Given the description of an element on the screen output the (x, y) to click on. 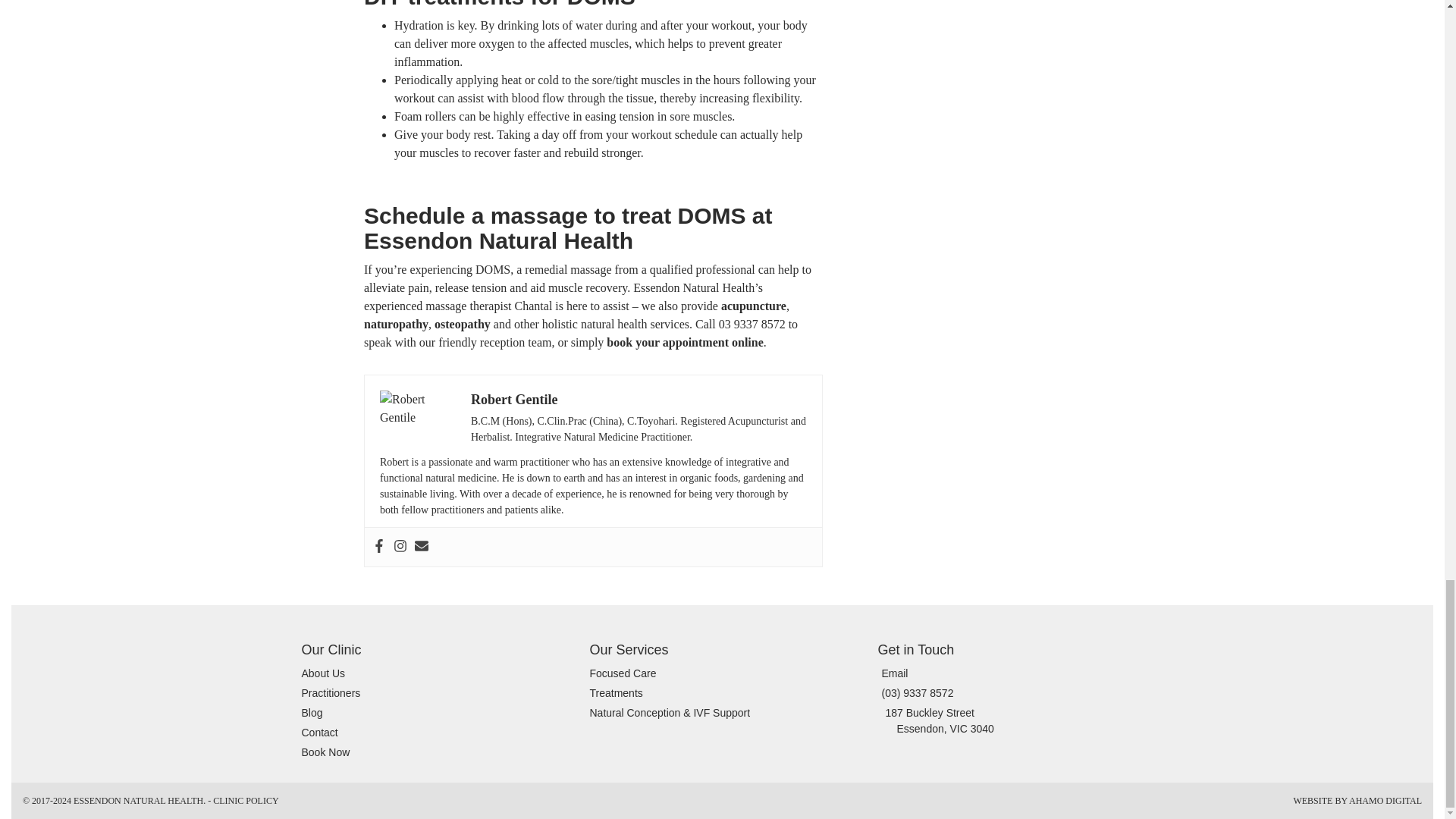
CLINIC POLICY (245, 800)
naturopathy (396, 323)
AHAMO DIGITAL (1385, 800)
Treatments (615, 693)
Focused Care (622, 673)
Practitioners (331, 693)
Email (893, 673)
book your appointment online (684, 341)
About Us (323, 673)
acupuncture (753, 305)
